Given the description of an element on the screen output the (x, y) to click on. 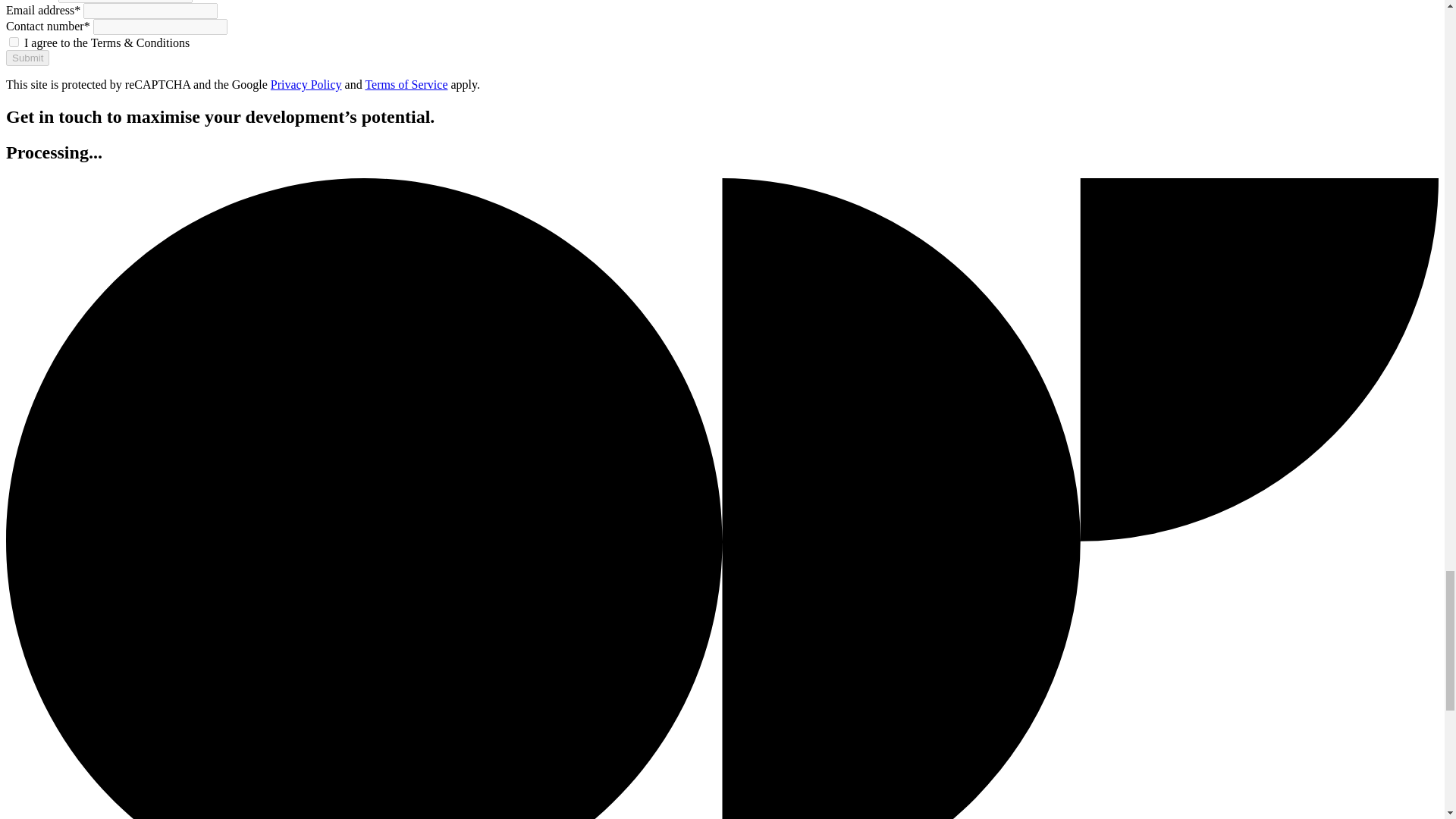
true (13, 41)
